Given the description of an element on the screen output the (x, y) to click on. 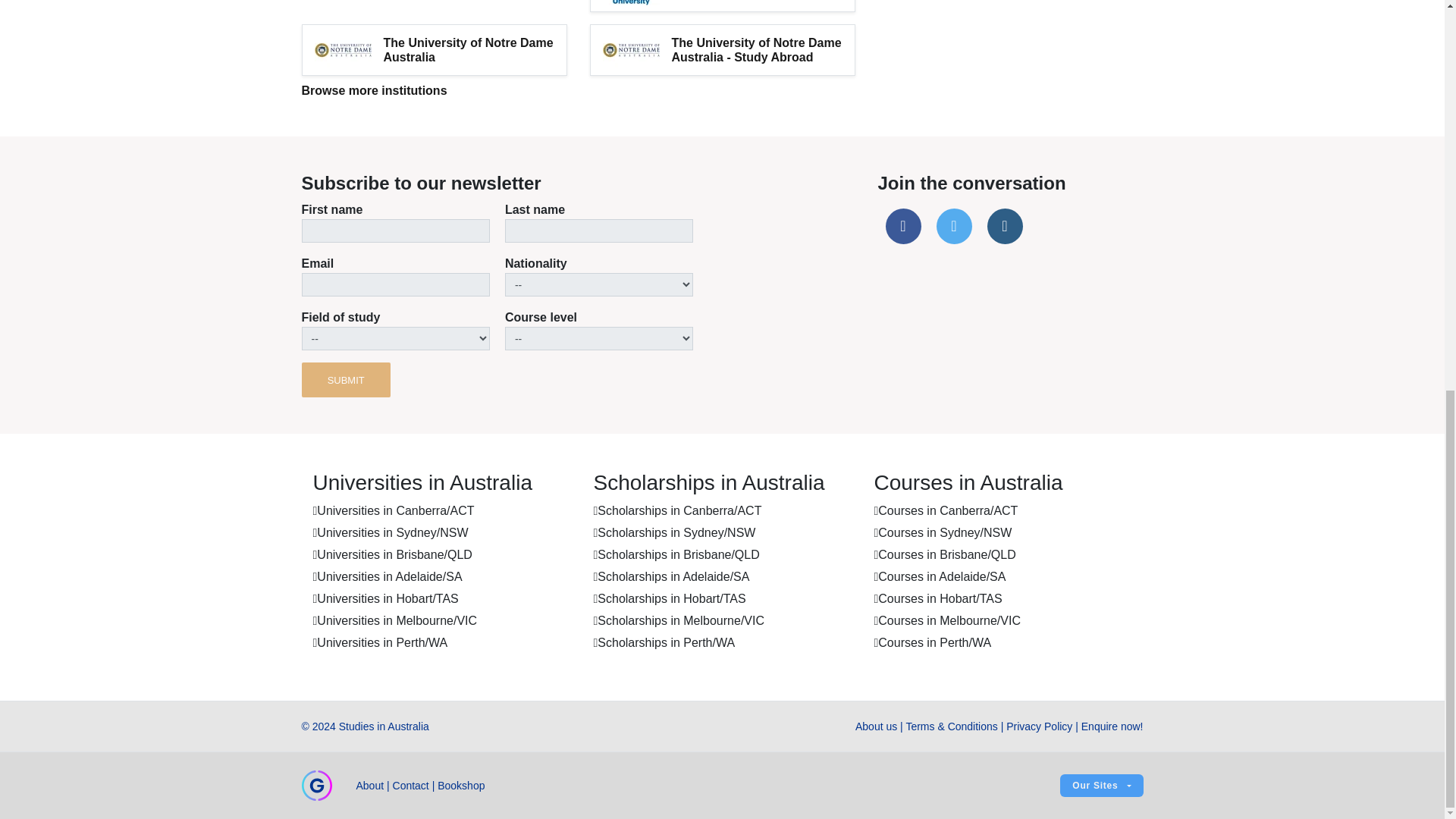
The University of Notre Dame Australia (475, 50)
The University of Notre Dame Australia - Study Abroad (762, 50)
Browse more institutions (373, 90)
SUBMIT (345, 379)
